Given the description of an element on the screen output the (x, y) to click on. 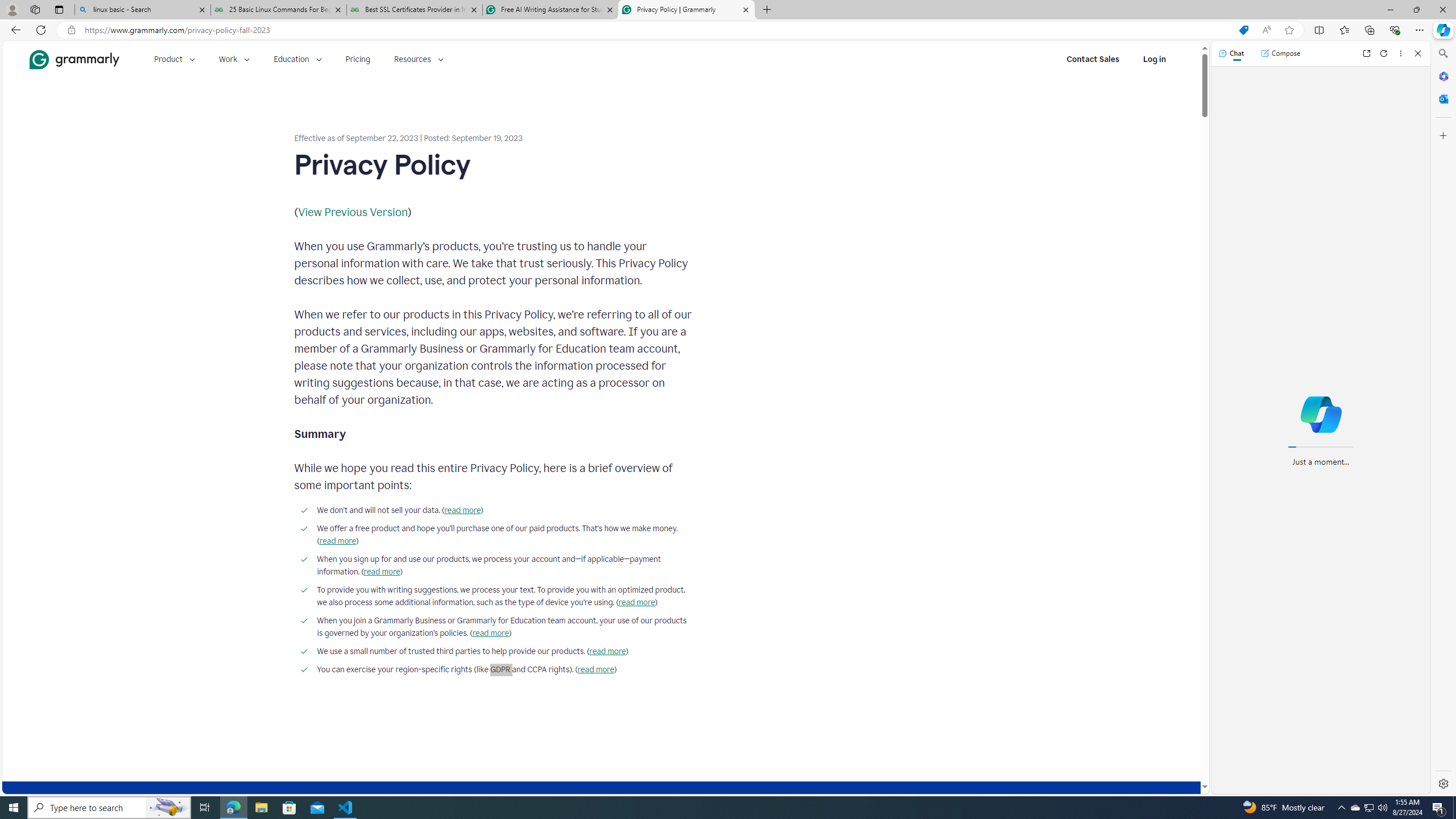
Contact Sales (1092, 58)
View Previous Version (352, 211)
Log in (1154, 58)
Product (174, 58)
Grammarly Home (74, 59)
Shopping in Microsoft Edge (1243, 29)
